Given the description of an element on the screen output the (x, y) to click on. 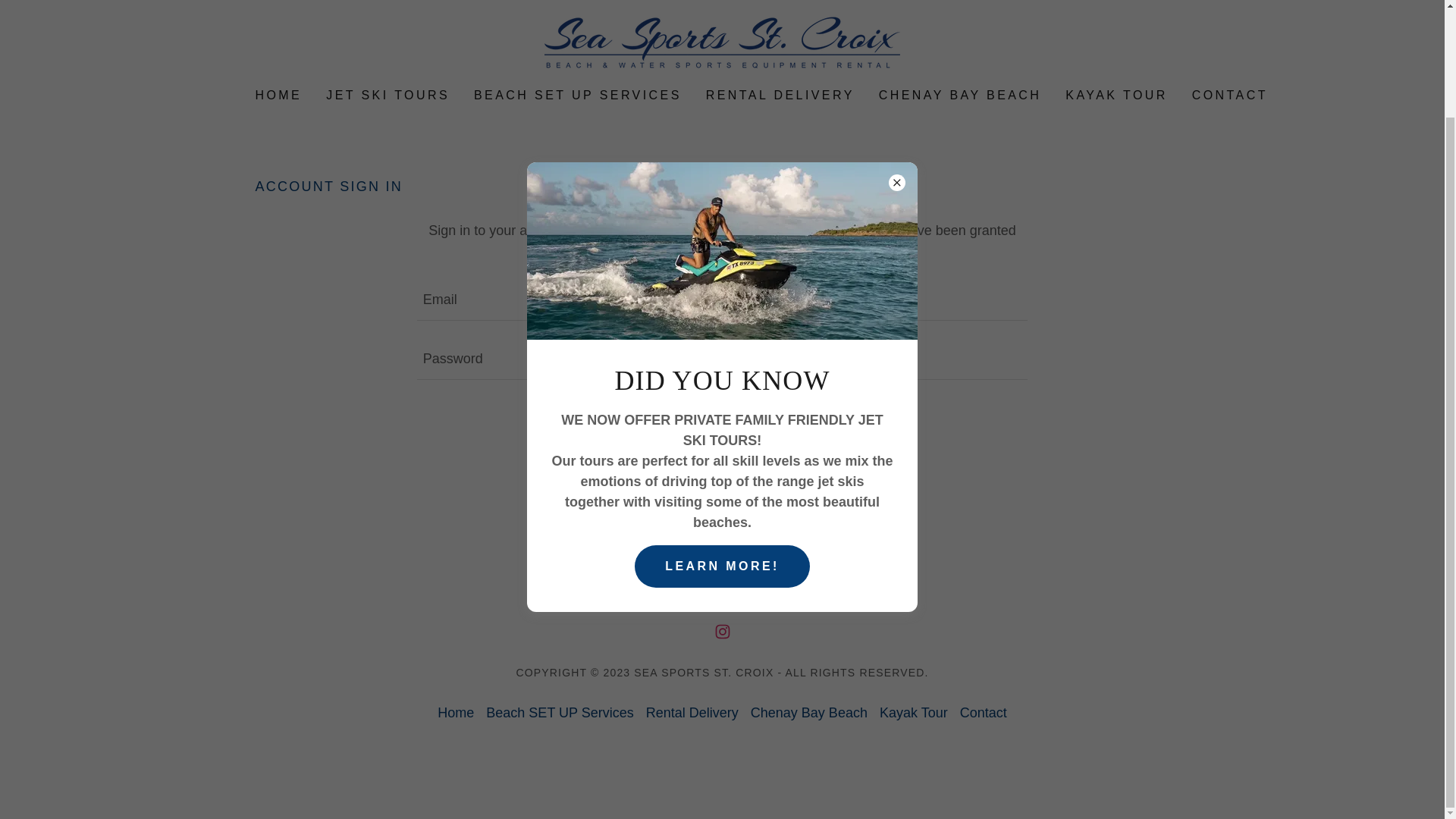
JET SKI TOURS (387, 94)
Reset password (721, 466)
RENTAL DELIVERY (780, 94)
BEACH SET UP SERVICES (576, 94)
340-244-9011 (1083, 1)
KAYAK TOUR (1116, 94)
HOME (277, 94)
CHENAY BAY BEACH (960, 94)
CONTACT (1230, 94)
SIGN IN (722, 419)
